Given the description of an element on the screen output the (x, y) to click on. 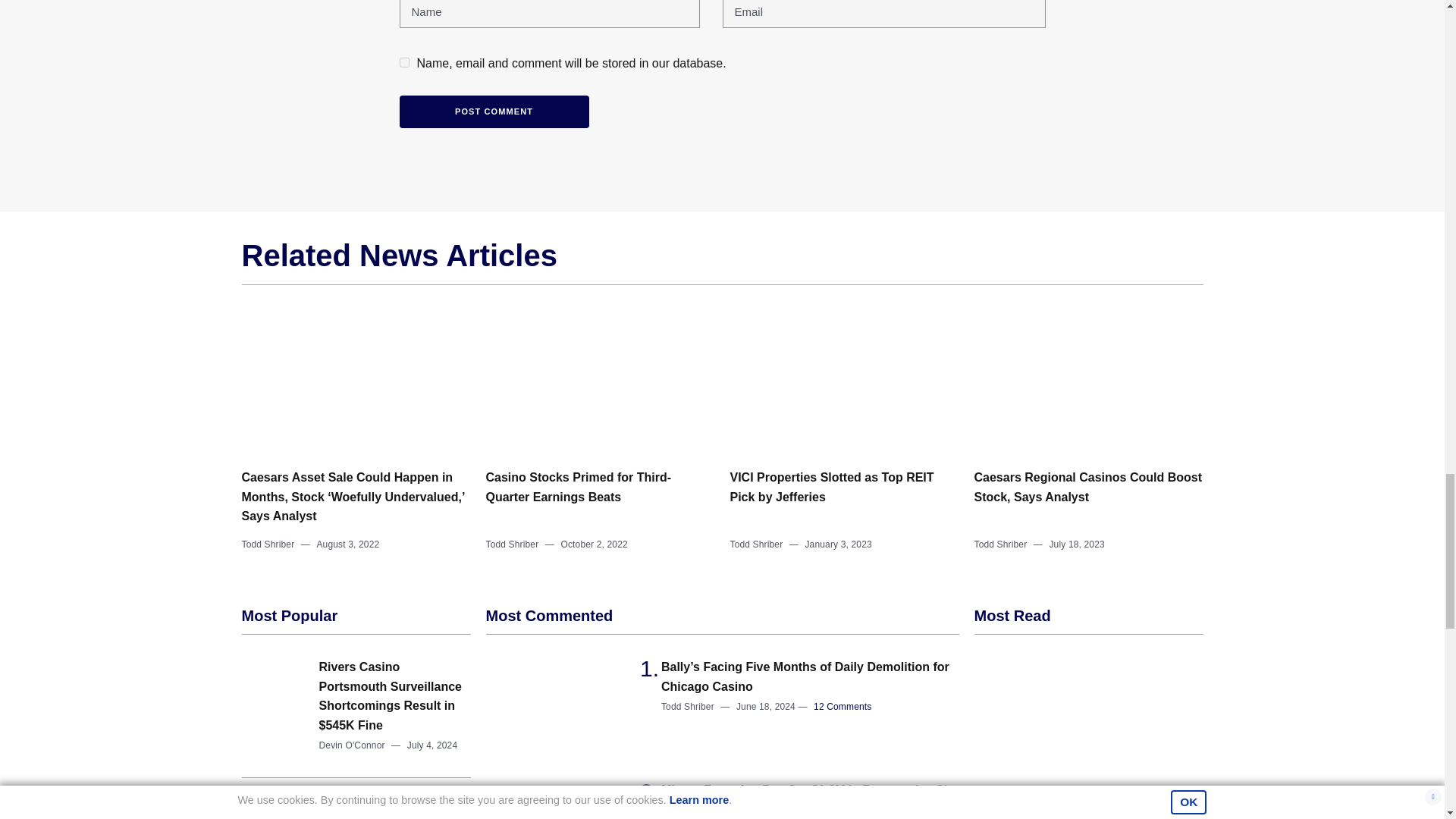
yes (403, 62)
Post Comment (493, 111)
